Given the description of an element on the screen output the (x, y) to click on. 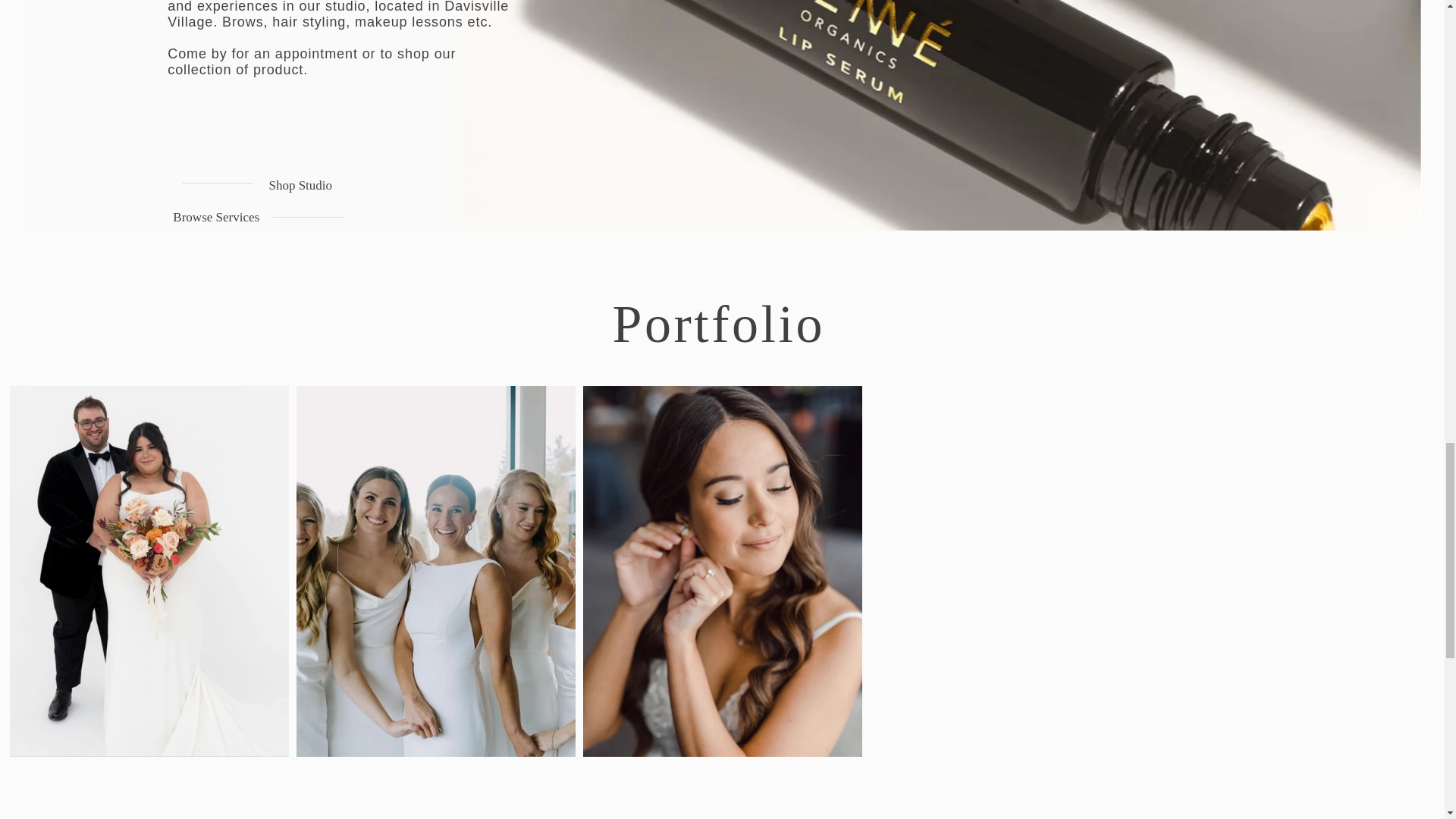
Shop Studio (300, 185)
Browse Services (215, 217)
